Given the description of an element on the screen output the (x, y) to click on. 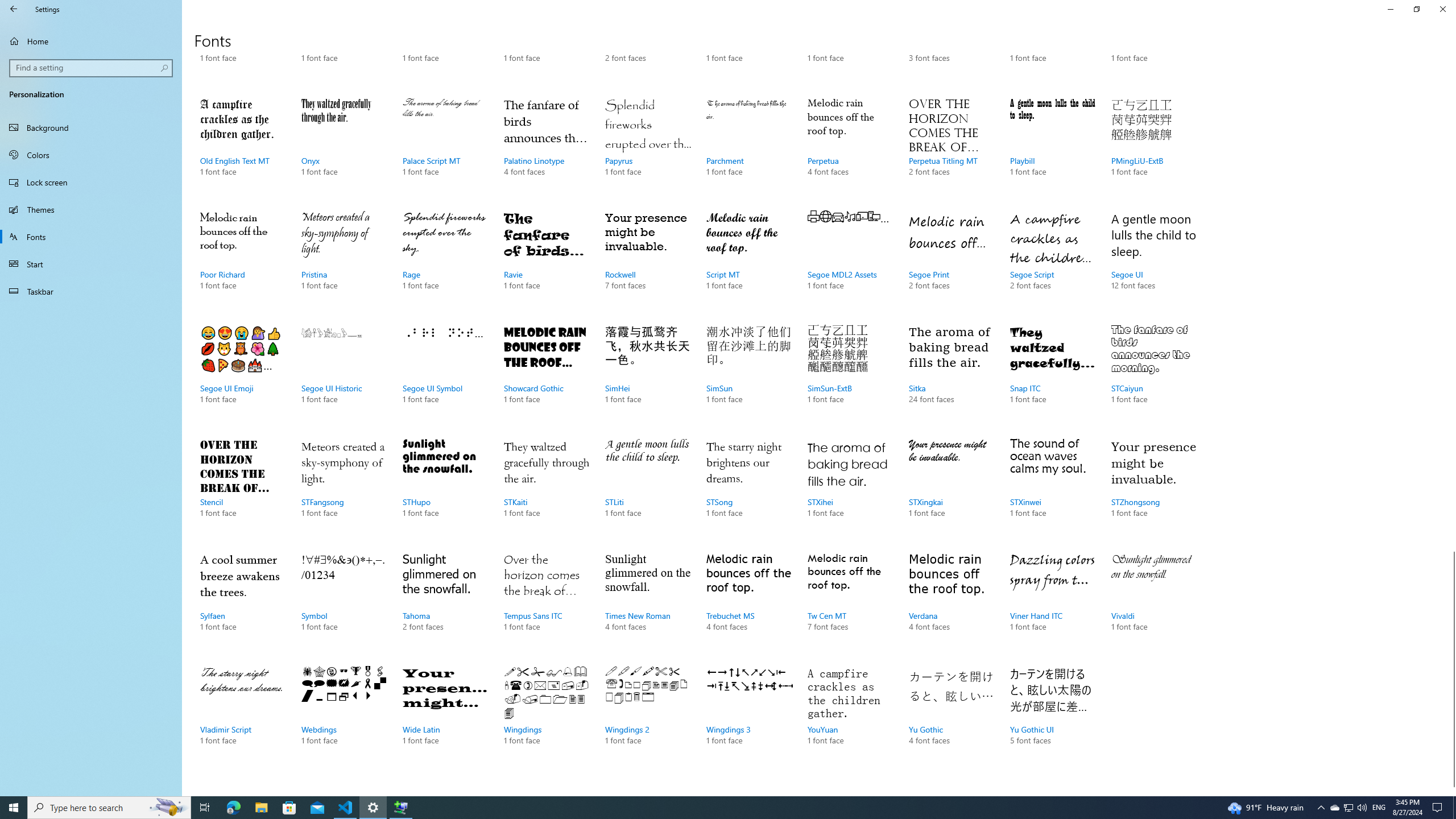
Q2790: 100% (1361, 807)
Perpetua Titling MT, 2 font faces (951, 148)
Tw Cen MT, 7 font faces (850, 603)
Stencil, 1 font face (243, 489)
Sylfaen, 1 font face (243, 603)
Playbill, 1 font face (1052, 148)
OCR A, 1 font face (1153, 45)
Taskbar (91, 290)
File Explorer (261, 807)
STFangsong, 1 font face (343, 489)
YouYuan, 1 font face (850, 716)
Themes (91, 208)
Poor Richard, 1 font face (243, 262)
Tahoma, 2 font faces (445, 603)
Snap ITC, 1 font face (1052, 375)
